Given the description of an element on the screen output the (x, y) to click on. 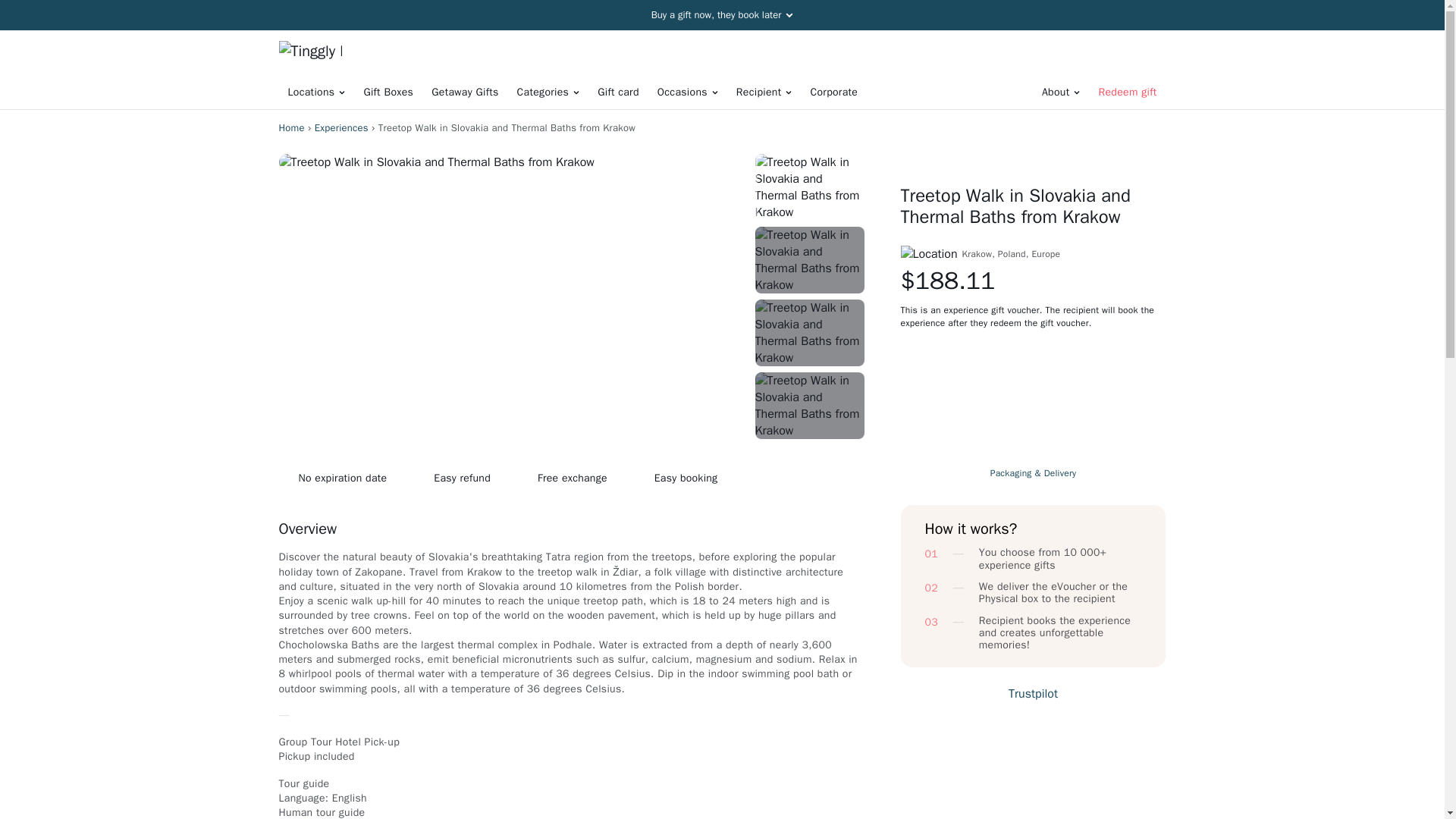
Buy a gift now, they book later (721, 14)
